Given the description of an element on the screen output the (x, y) to click on. 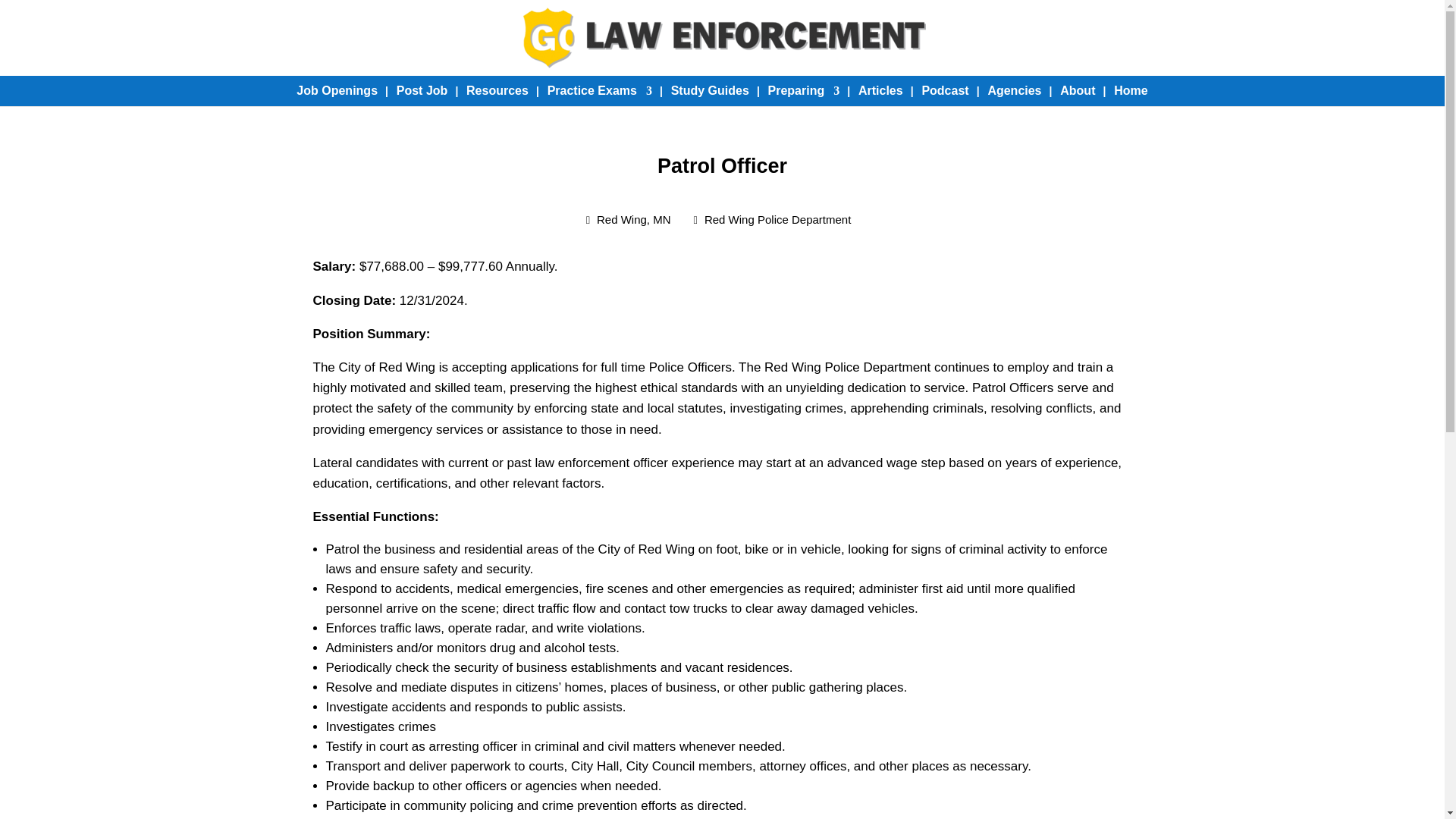
Agencies (1014, 91)
About (1076, 91)
Practice Exams (599, 91)
Home (1130, 91)
Post Job (422, 91)
Study Guides (710, 91)
Articles (880, 91)
Podcast (944, 91)
Preparing (804, 91)
Resources (496, 91)
